Given the description of an element on the screen output the (x, y) to click on. 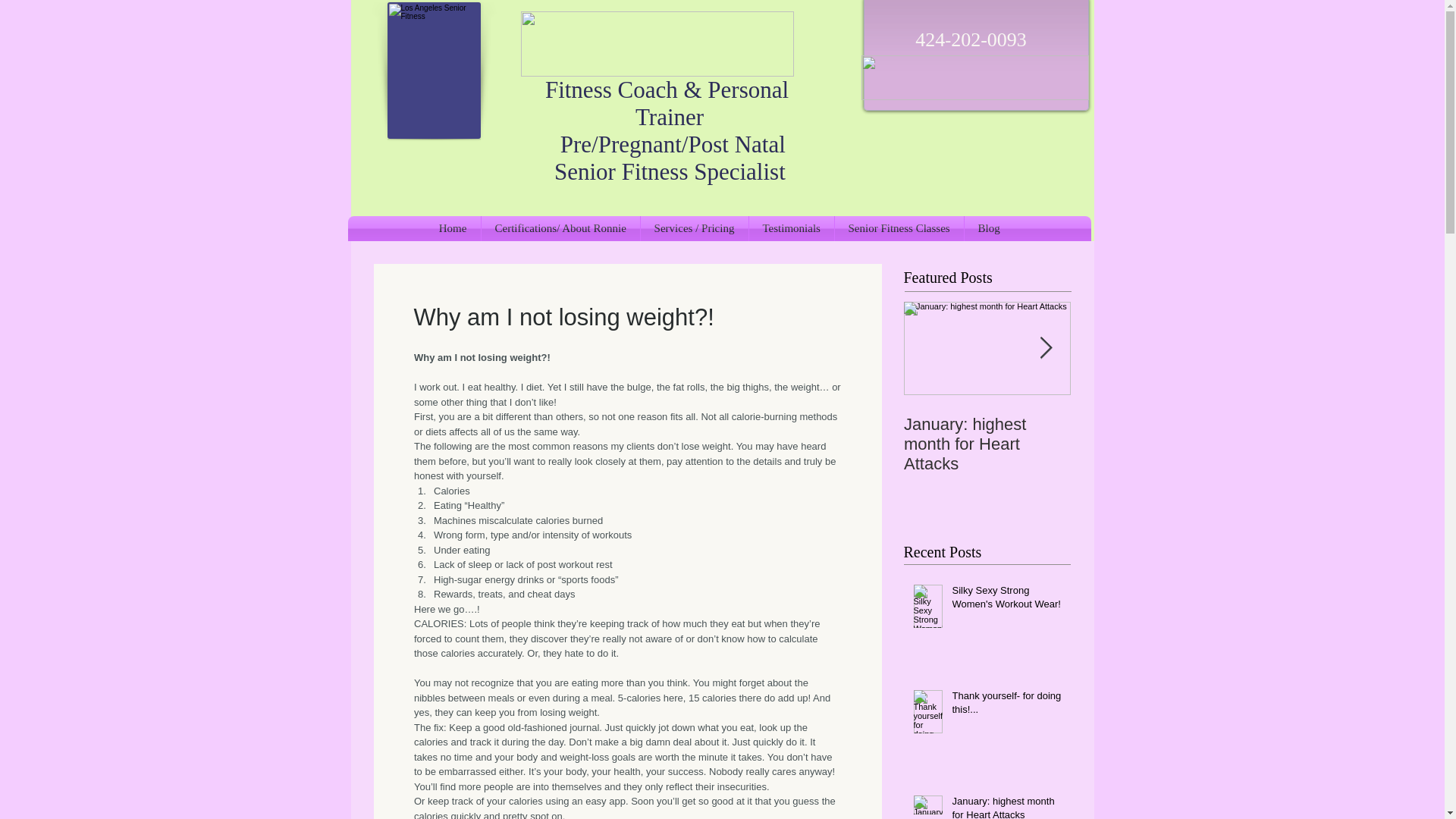
January: highest month for Heart Attacks (1006, 806)
Senior Fitness Classes (898, 228)
Home (452, 228)
Thank yourself- for doing this!... (1006, 705)
Silky Sexy Strong Women's Workout Wear! (1006, 600)
Blog (988, 228)
Testimonials (791, 228)
January: highest month for Heart Attacks (987, 444)
